Given the description of an element on the screen output the (x, y) to click on. 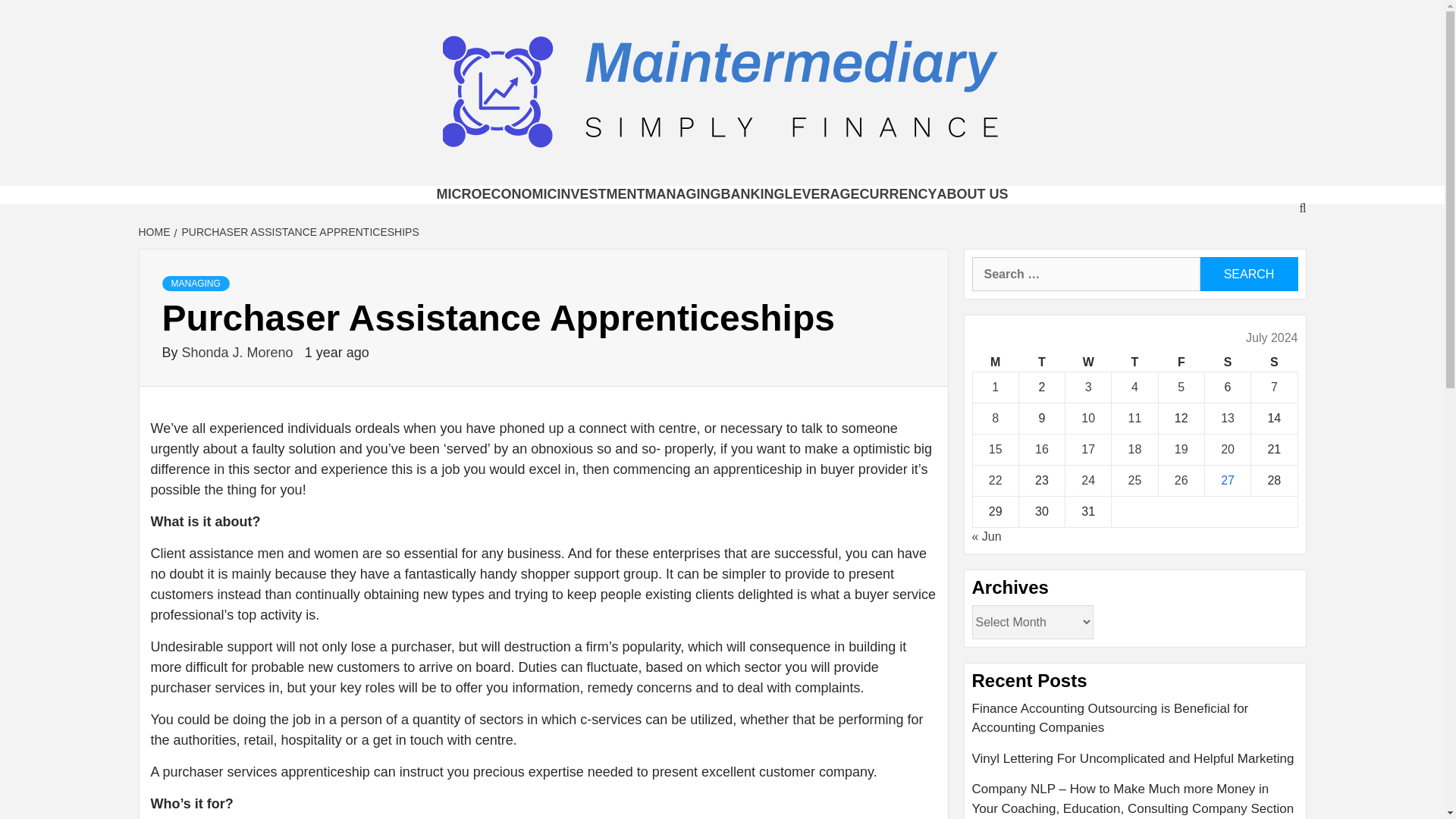
HOME (155, 232)
Saturday (1227, 362)
MANAGING (195, 283)
Search (1248, 274)
MAINTERMEDIARY (488, 191)
PURCHASER ASSISTANCE APPRENTICESHIPS (298, 232)
CURRENCY (898, 193)
11 (1134, 418)
Thursday (1134, 362)
BANKING (752, 193)
Search (1248, 274)
Search (1248, 274)
Friday (1180, 362)
INVESTMENT (600, 193)
18 (1134, 449)
